Given the description of an element on the screen output the (x, y) to click on. 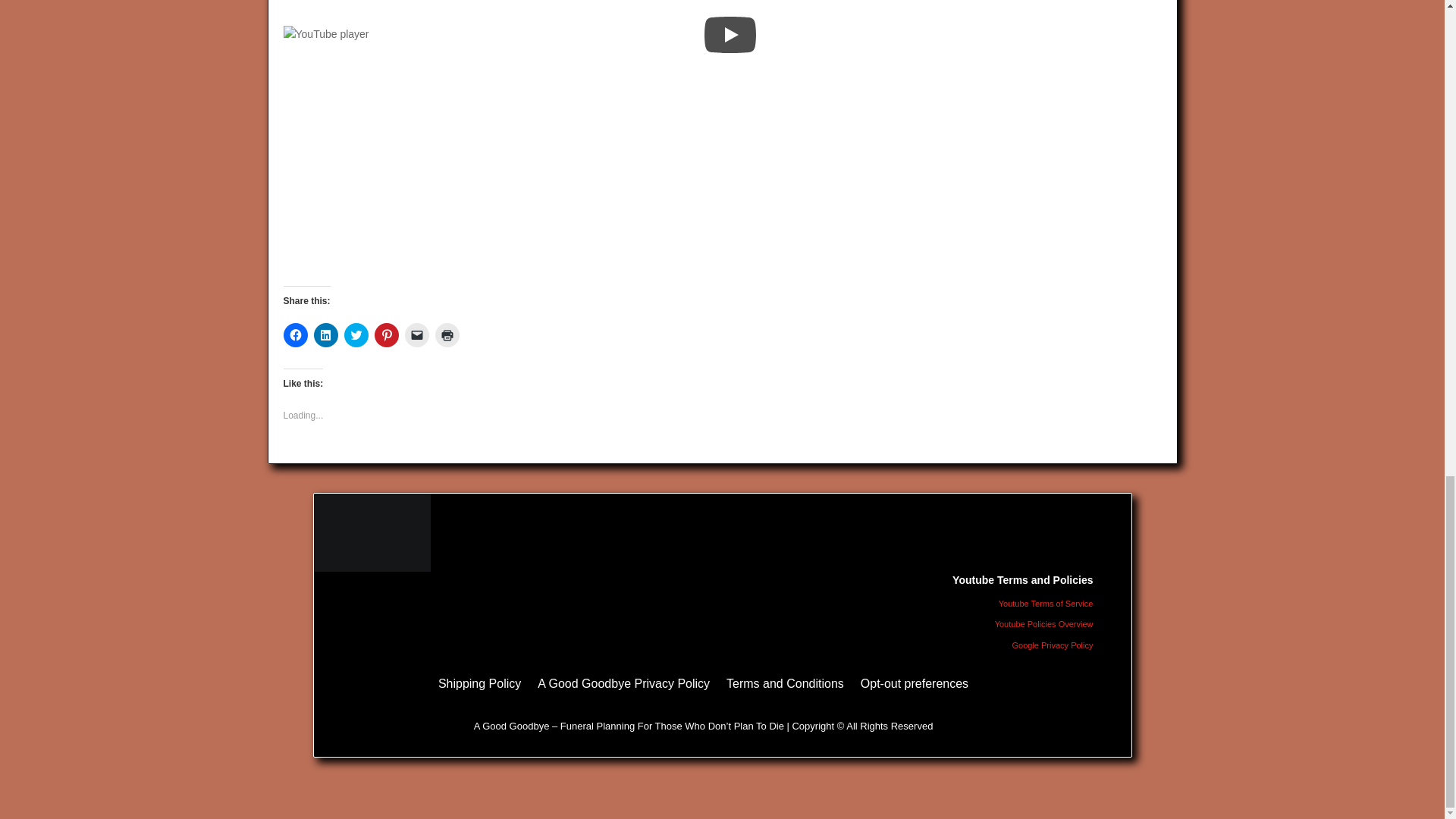
Click to print (447, 334)
Click to share on LinkedIn (325, 334)
Click to share on Pinterest (386, 334)
Click to email a link to a friend (416, 334)
Click to share on Twitter (355, 334)
Click to share on Facebook (295, 334)
